Given the description of an element on the screen output the (x, y) to click on. 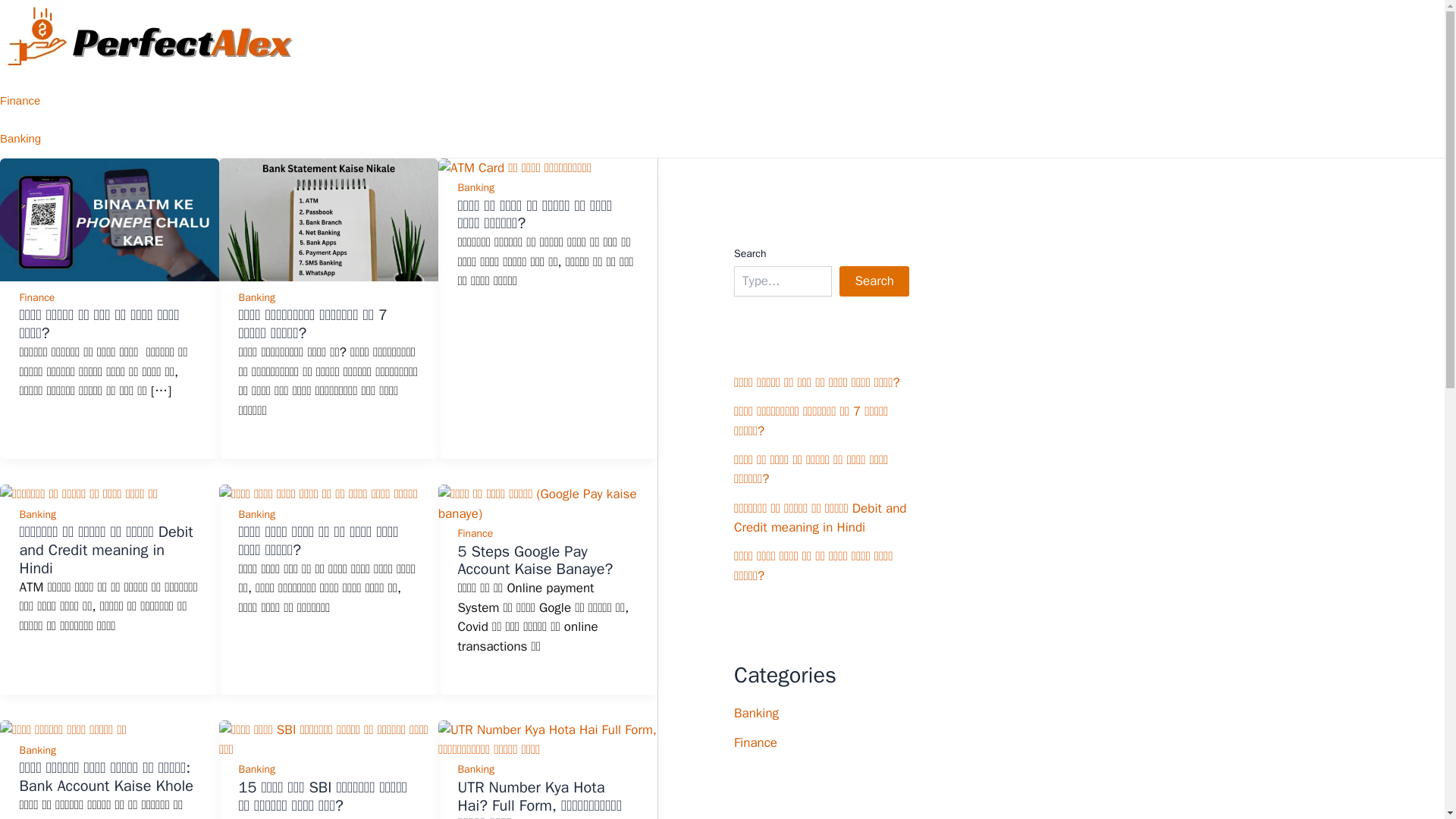
5 Steps Google Pay Account Kaise Banaye? (534, 559)
Finance (475, 533)
Banking (256, 768)
Banking (38, 749)
Finance (37, 297)
Banking (256, 513)
5 Steps Google Pay Account Kaise Banaye? 6 (548, 503)
Finance (20, 100)
Banking (256, 297)
Banking (476, 187)
Banking (20, 138)
Banking (38, 513)
